Given the description of an element on the screen output the (x, y) to click on. 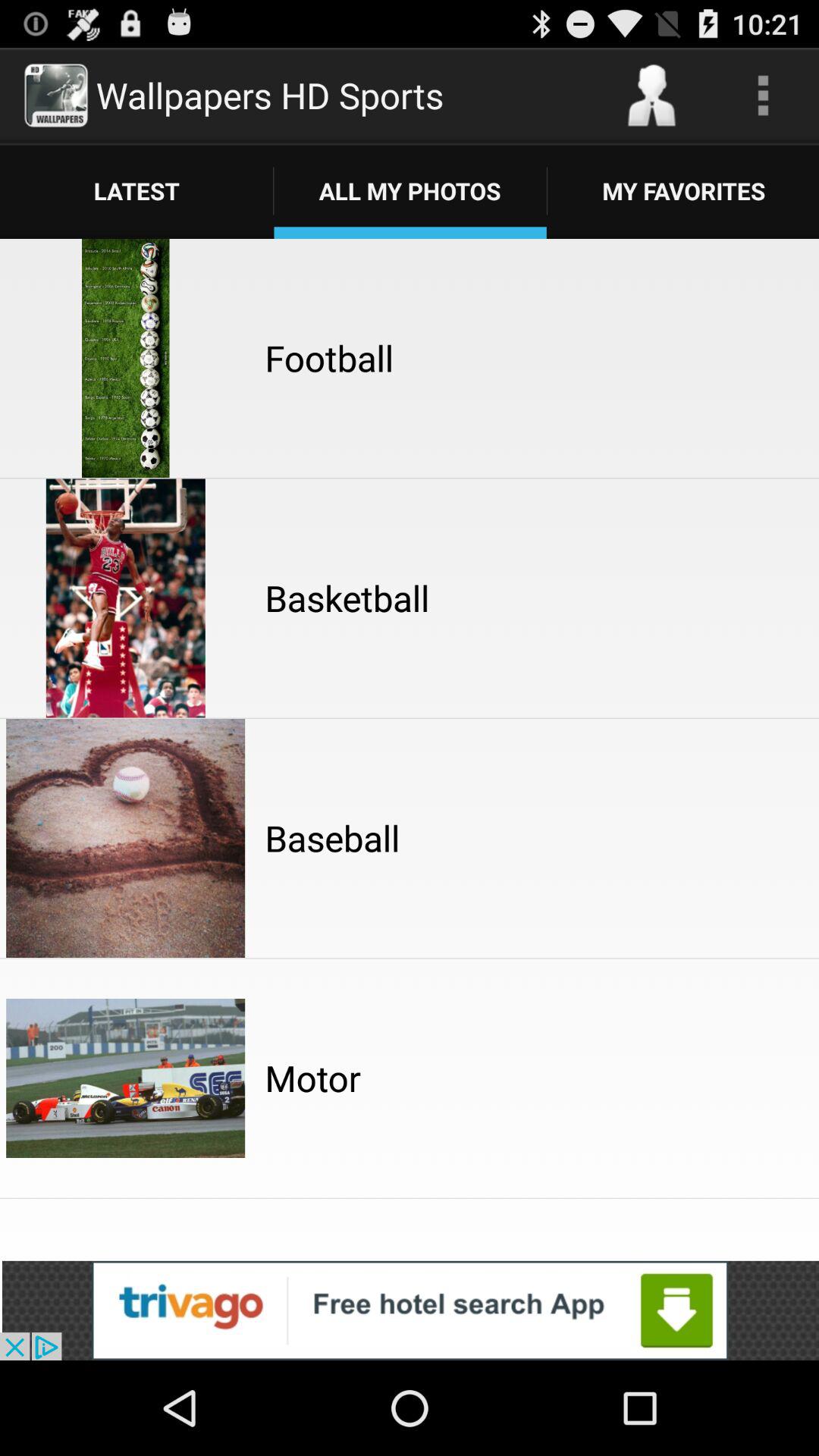
icon (763, 95)
